Given the description of an element on the screen output the (x, y) to click on. 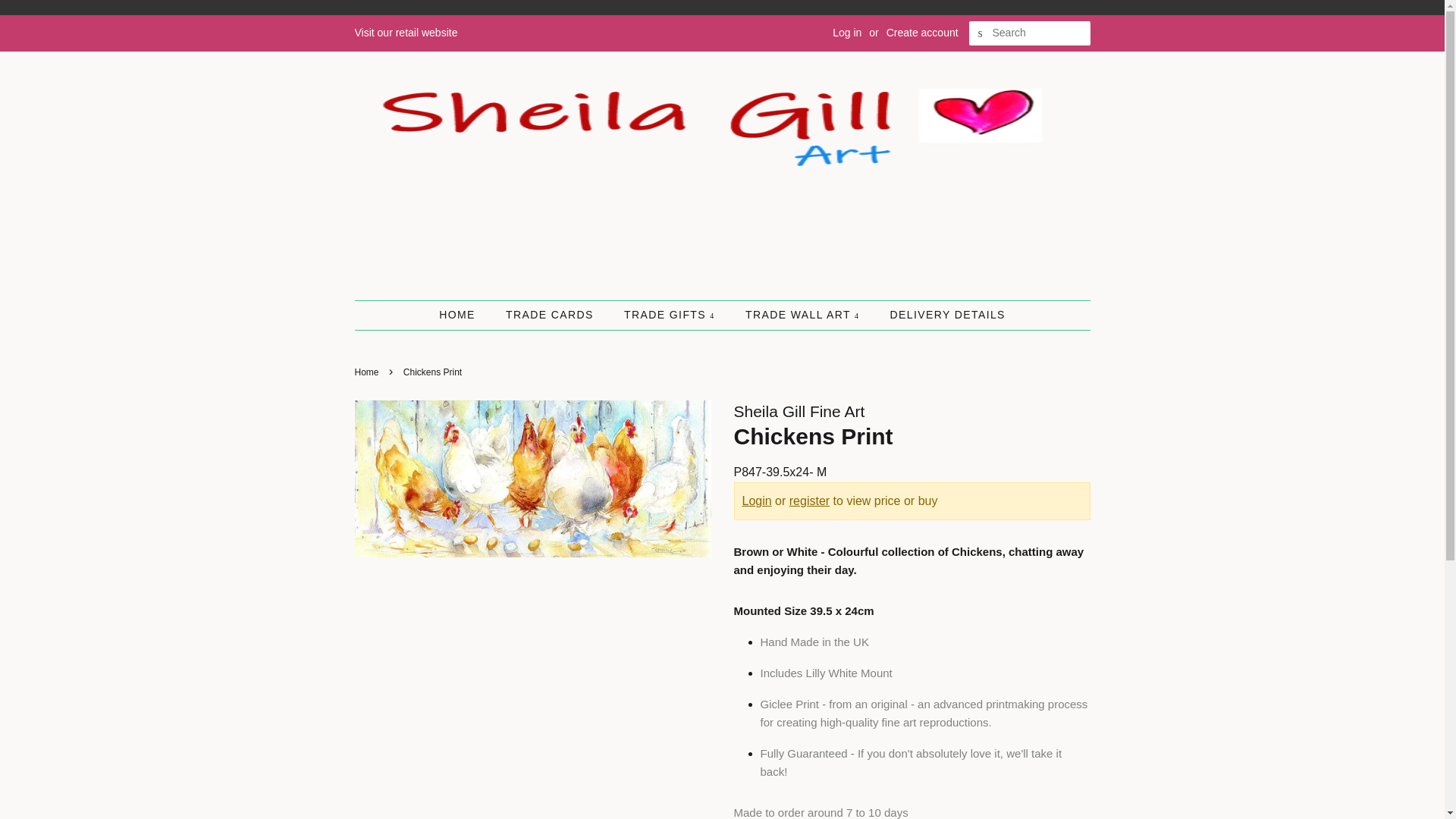
Create account (922, 32)
Log in (846, 32)
TRADE GIFTS (671, 315)
HOME (464, 315)
Visit our retail website (406, 32)
Back to the frontpage (368, 371)
TRADE CARDS (551, 315)
DELIVERY DETAILS (940, 315)
TRADE WALL ART (804, 315)
SEARCH (980, 33)
